Given the description of an element on the screen output the (x, y) to click on. 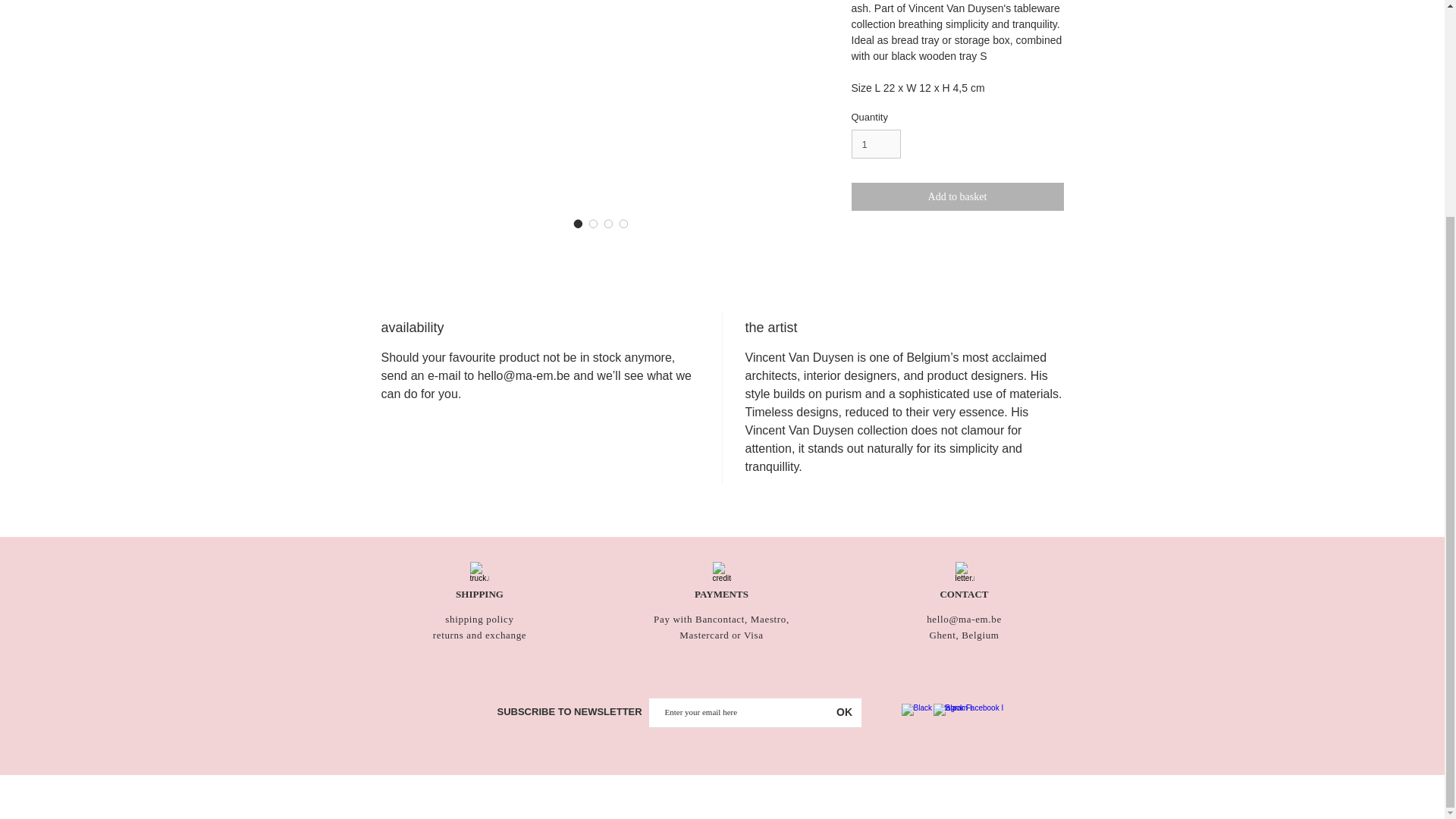
Add to basket (956, 196)
Pay with Bancontact, Maestro, Mastercard or Visa (721, 626)
returns and exchange (478, 634)
1 (874, 143)
shipping policy (479, 618)
OK (844, 713)
